Given the description of an element on the screen output the (x, y) to click on. 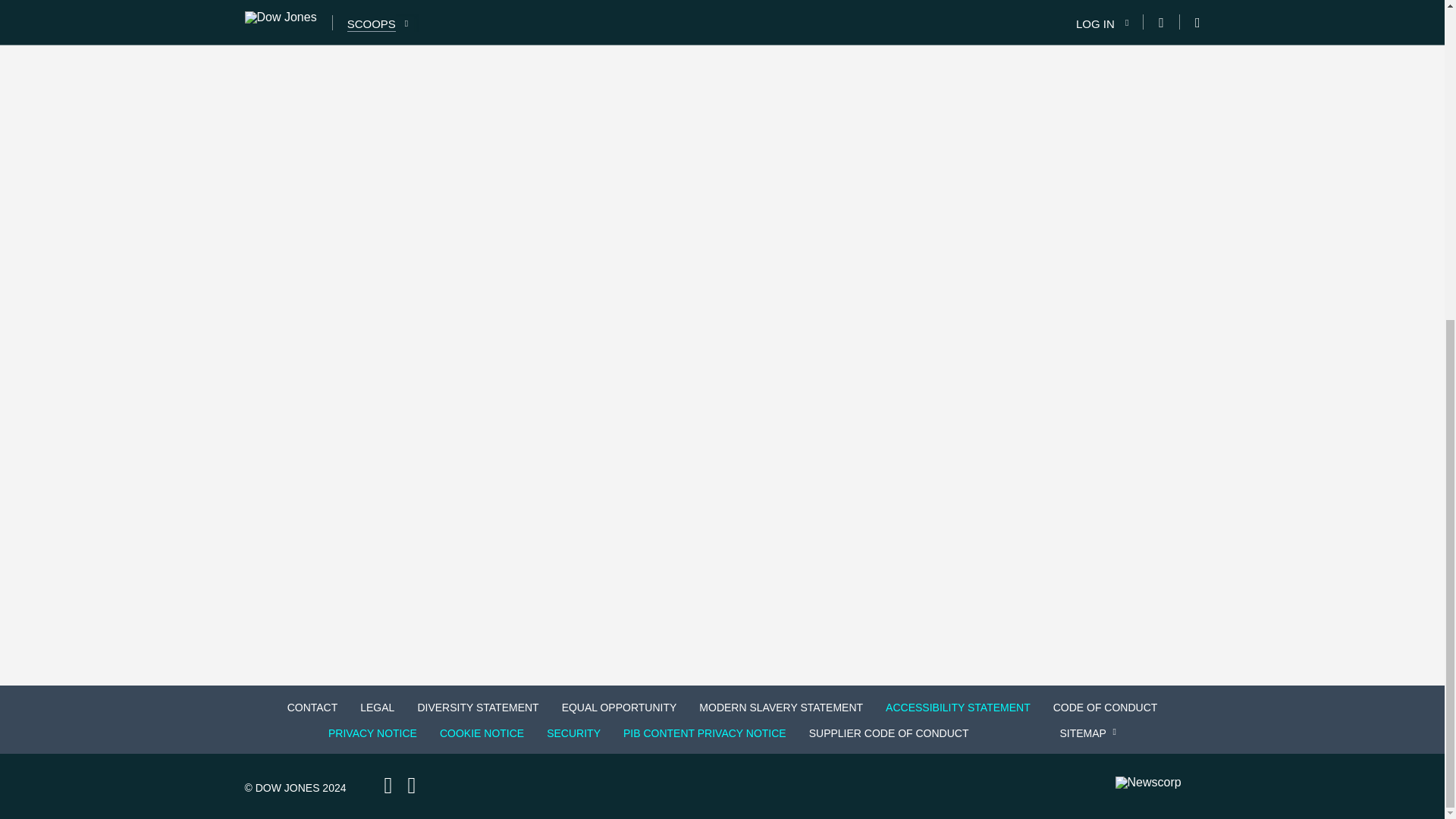
MODERN SLAVERY STATEMENT (780, 707)
DIVERSITY STATEMENT (477, 707)
CONTACT (312, 707)
LEGAL (376, 707)
CODE OF CONDUCT (1105, 707)
PRIVACY NOTICE (372, 733)
ACCESSIBILITY STATEMENT (957, 707)
EQUAL OPPORTUNITY (619, 707)
PIB CONTENT PRIVACY NOTICE (704, 733)
SECURITY (573, 733)
